Given the description of an element on the screen output the (x, y) to click on. 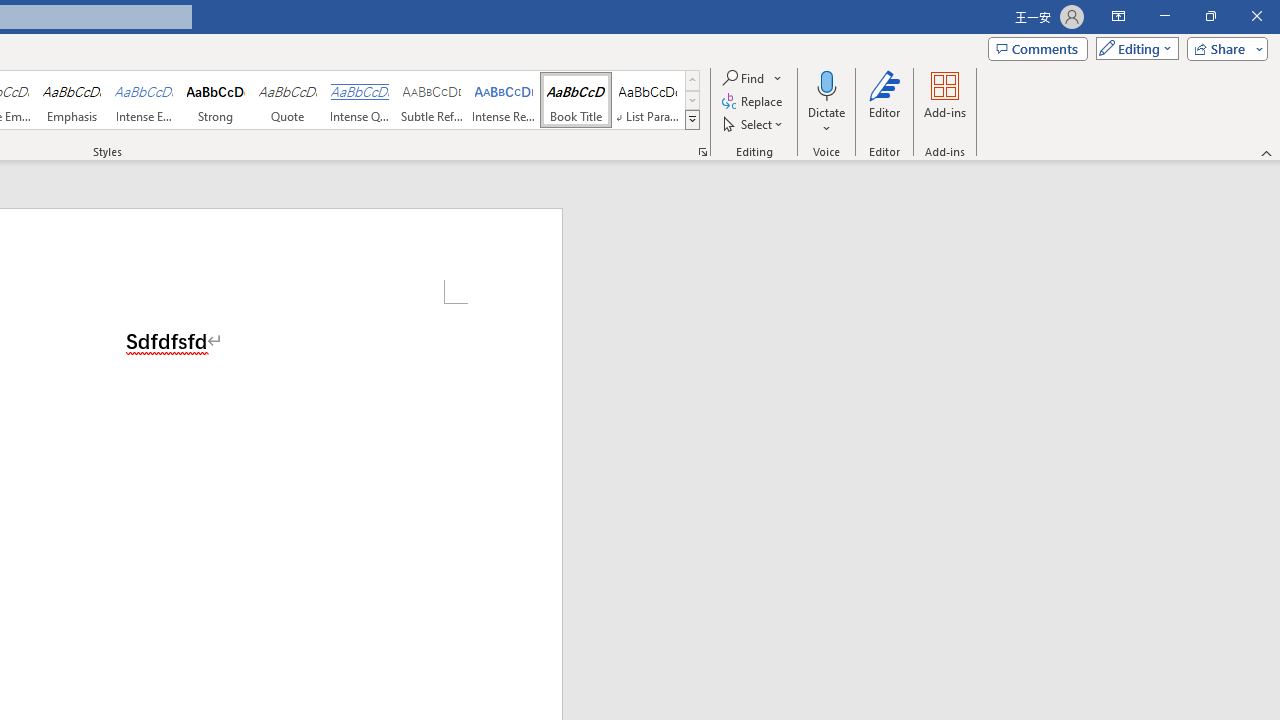
Emphasis (71, 100)
Row up (692, 79)
